Given the description of an element on the screen output the (x, y) to click on. 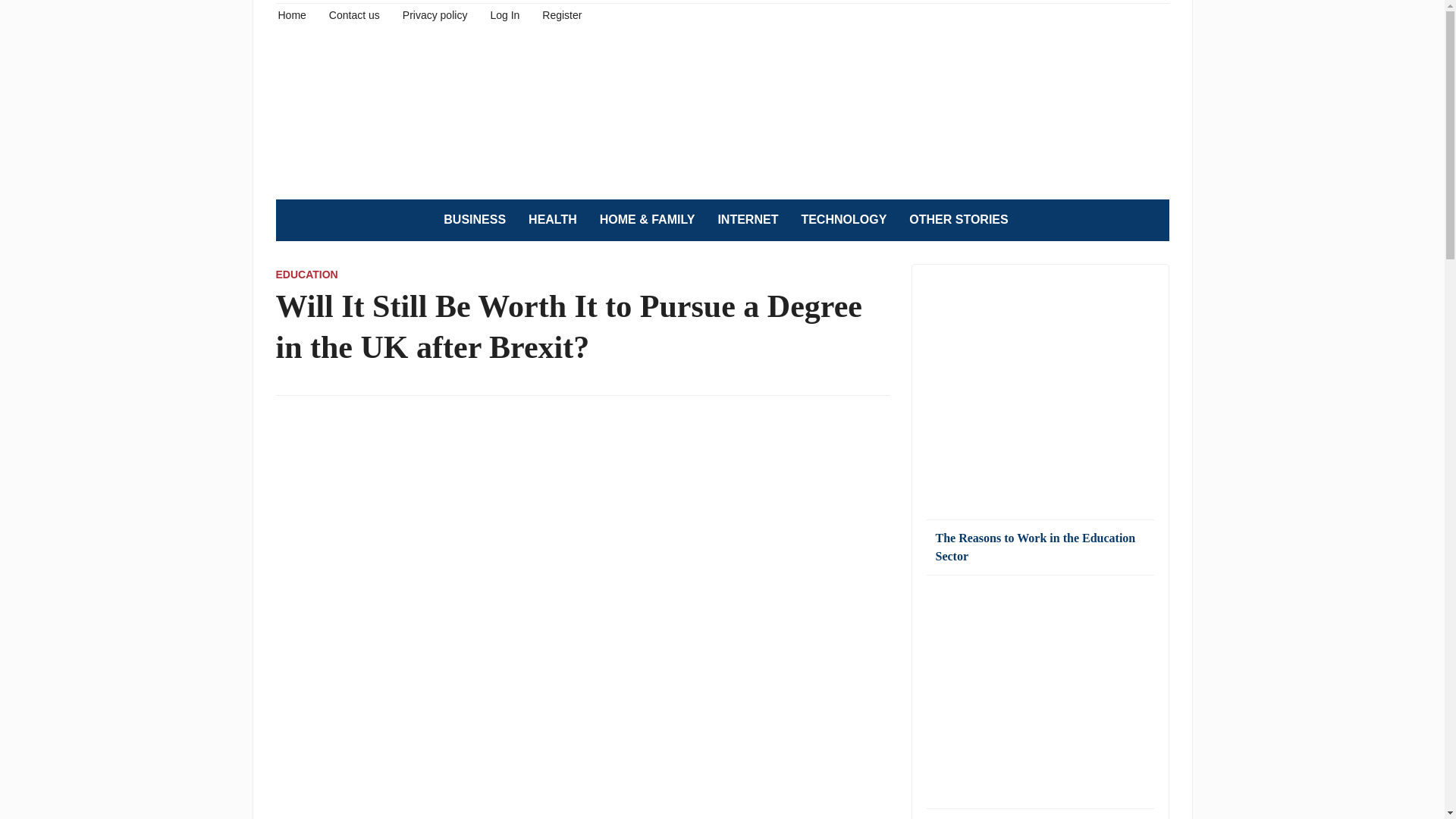
Privacy policy (435, 14)
Register (560, 14)
Search (1149, 219)
Log In (504, 14)
Home (291, 14)
Contact us (354, 14)
